Given the description of an element on the screen output the (x, y) to click on. 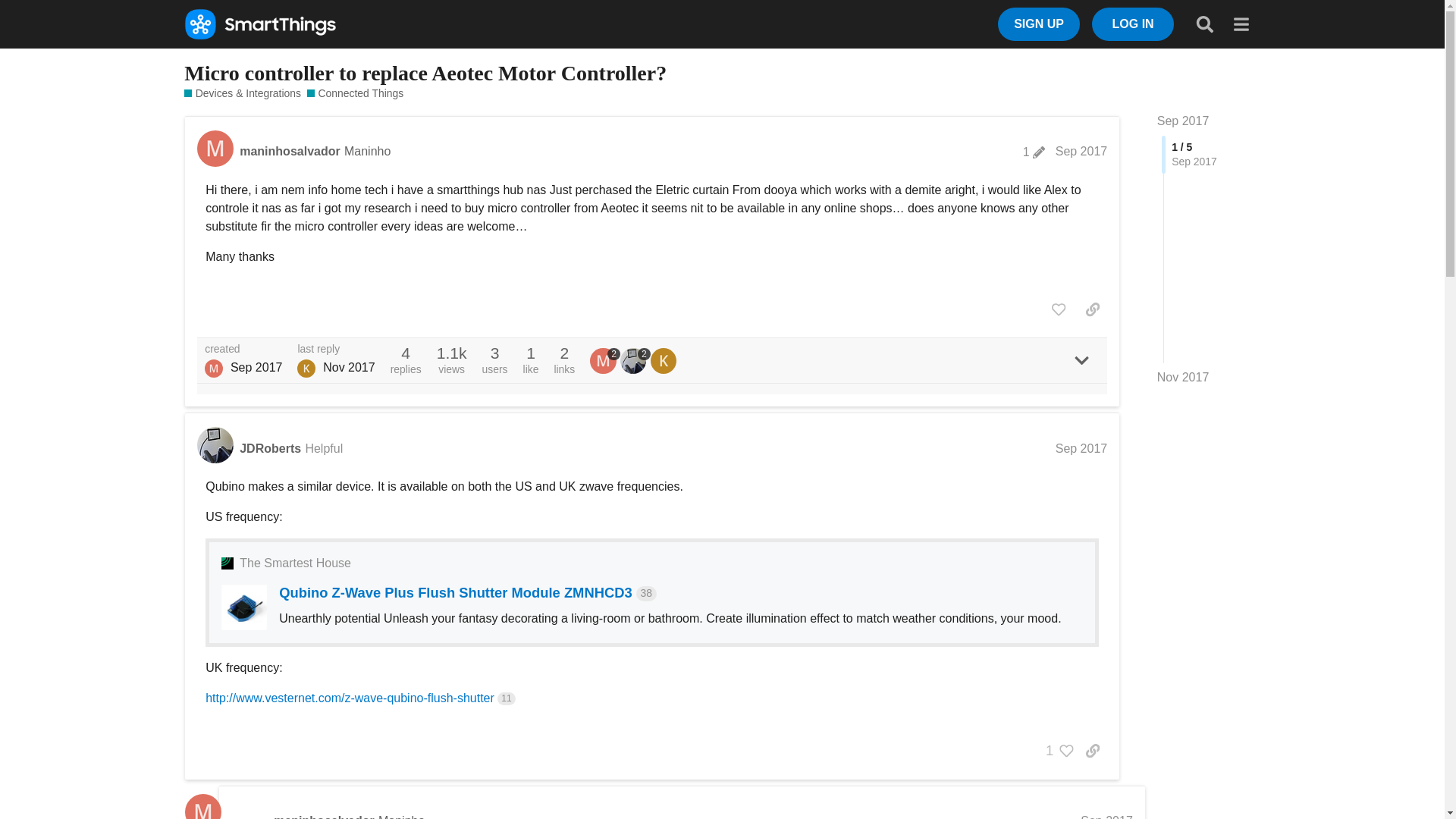
maninhosalvador (323, 816)
1 (1056, 750)
2 (604, 360)
2 (635, 360)
copy a link to this post to clipboard (1092, 309)
last reply (335, 348)
maninhosalvador (289, 151)
Post date (1081, 151)
Nov 2017 (1183, 377)
Jump to the last post (1183, 377)
Jump to the first post (1183, 120)
Kjamsek (306, 368)
JDRoberts (270, 448)
Connected Things (355, 93)
